Given the description of an element on the screen output the (x, y) to click on. 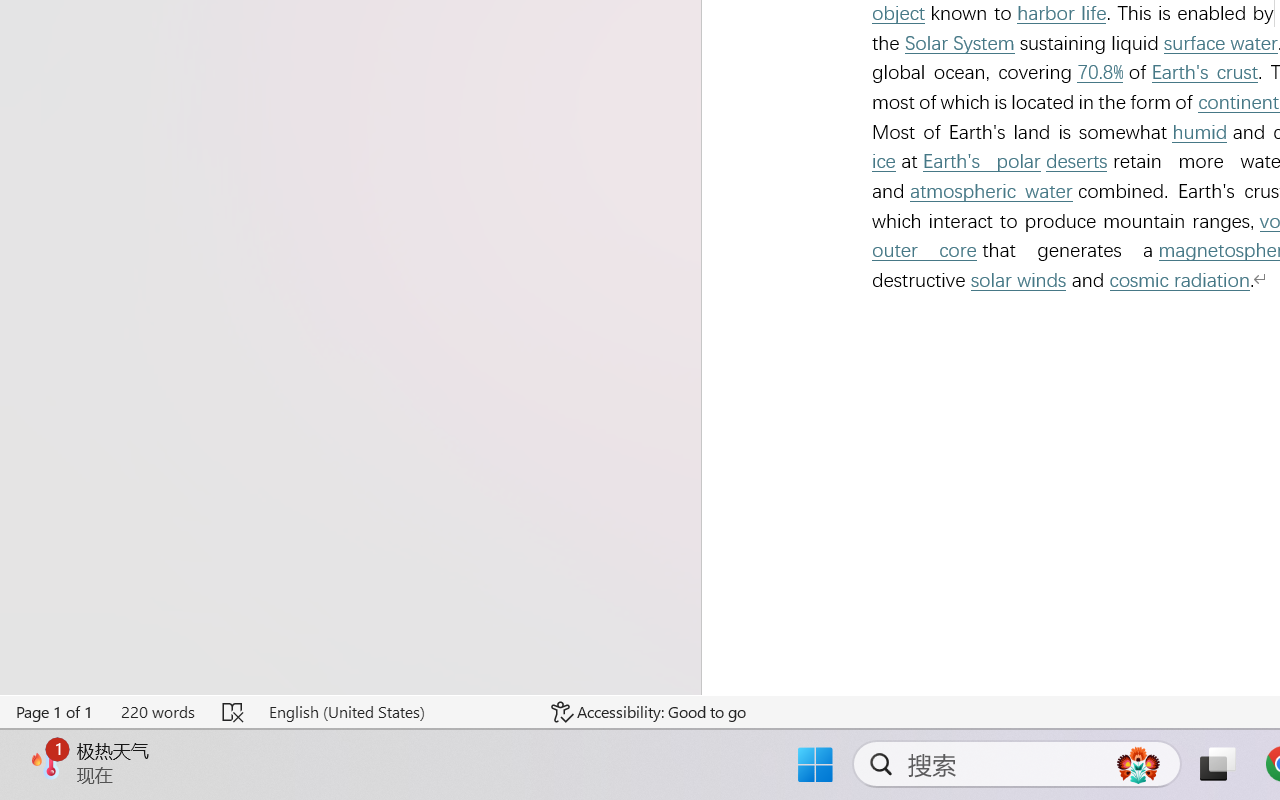
solar winds (1018, 280)
harbor life (1061, 13)
deserts (1076, 161)
70.8% (1099, 72)
